Given the description of an element on the screen output the (x, y) to click on. 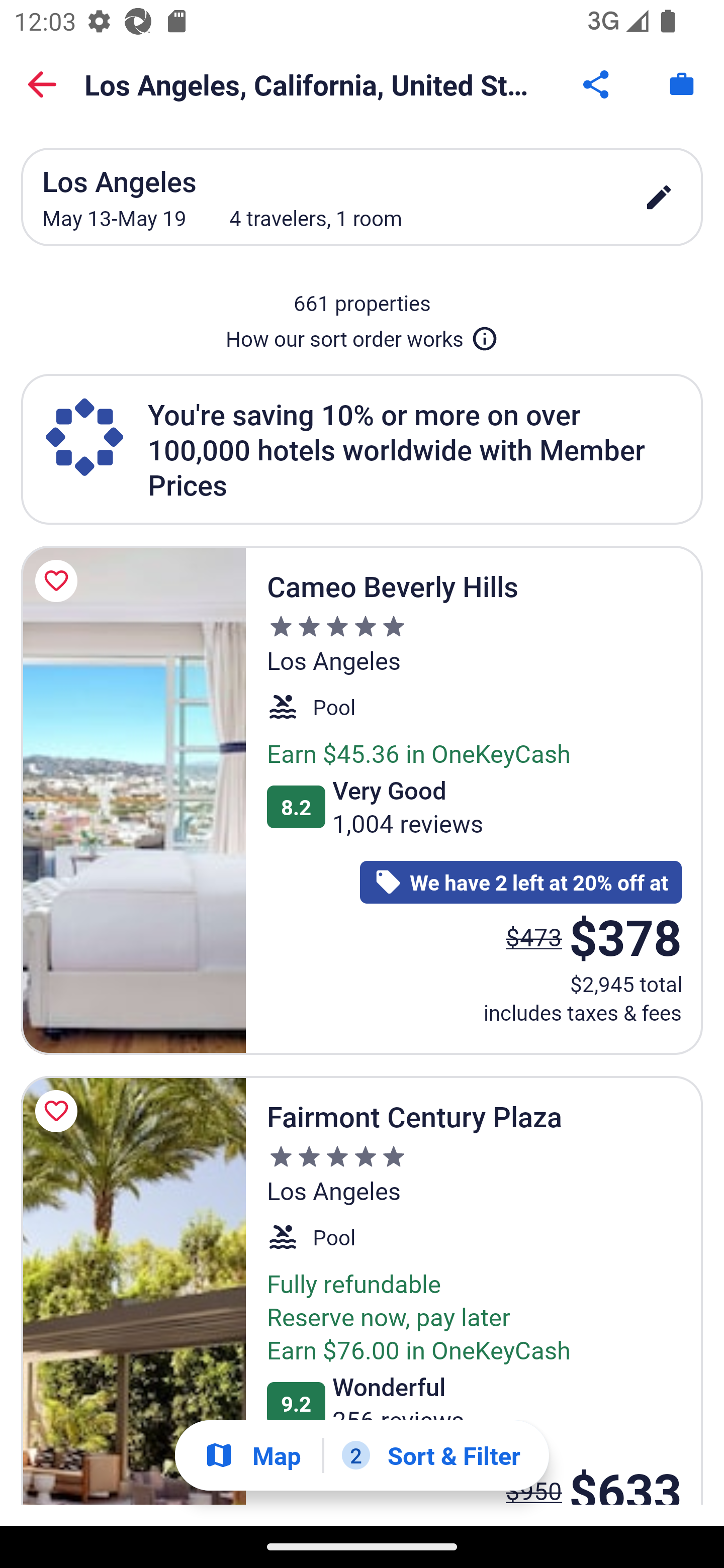
Back (42, 84)
Share Button (597, 84)
Trips. Button (681, 84)
Los Angeles May 13-May 19 4 travelers, 1 room edit (361, 196)
How our sort order works (361, 334)
Save Cameo Beverly Hills to a trip (59, 580)
Cameo Beverly Hills (133, 800)
$473 The price was $473 (533, 936)
Save Fairmont Century Plaza to a trip (59, 1111)
Fairmont Century Plaza (133, 1290)
2 Sort & Filter 2 Filters applied. Filters Button (430, 1455)
Show map Map Show map Button (252, 1455)
